Given the description of an element on the screen output the (x, y) to click on. 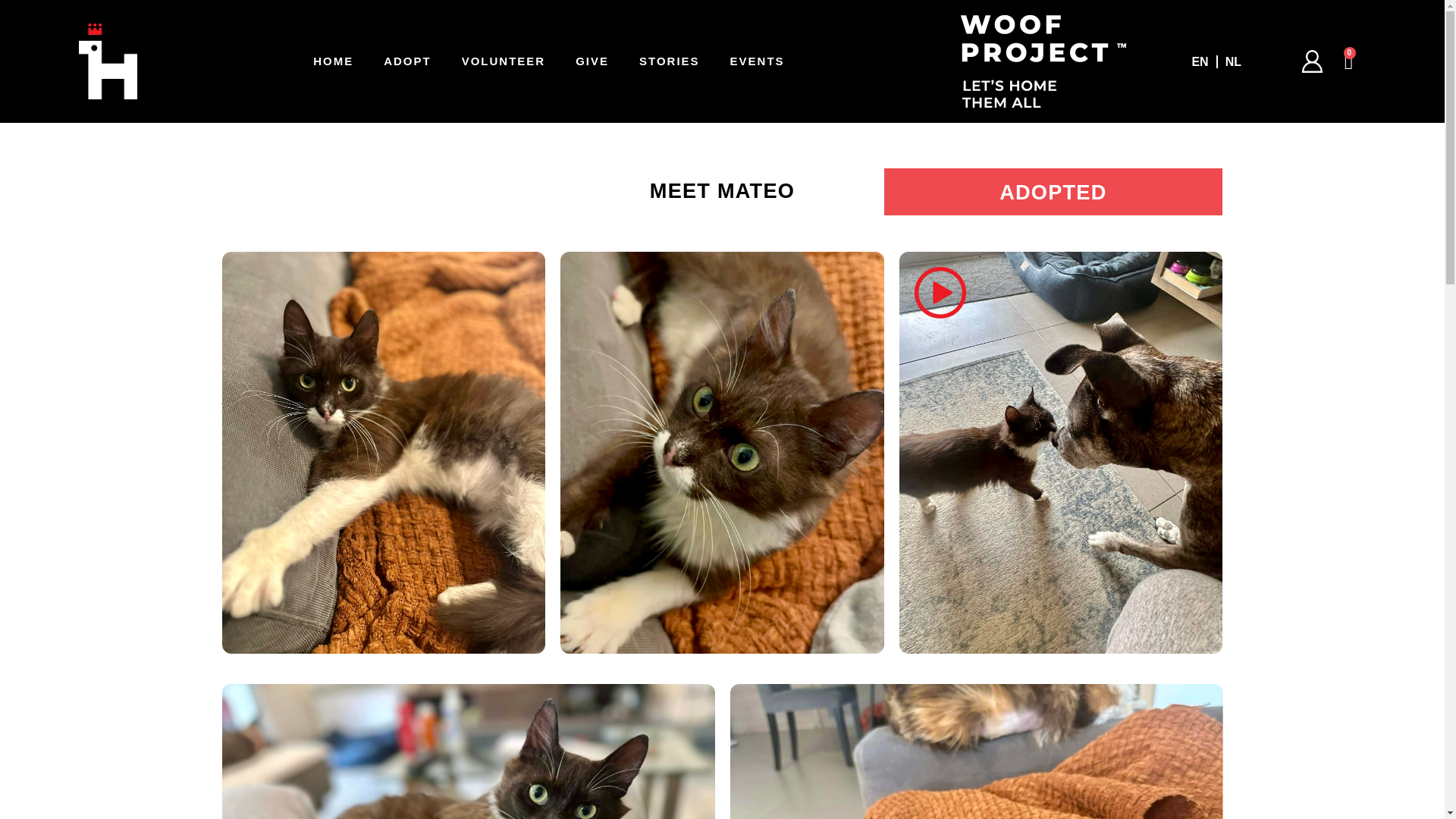
HOME (333, 61)
EN (1199, 61)
0 (1349, 60)
VOLUNTEER (503, 61)
GIVE (592, 61)
EVENTS (756, 61)
STORIES (669, 61)
ADOPT (407, 61)
ADOPT ME (1133, 190)
NL (1233, 61)
